Given the description of an element on the screen output the (x, y) to click on. 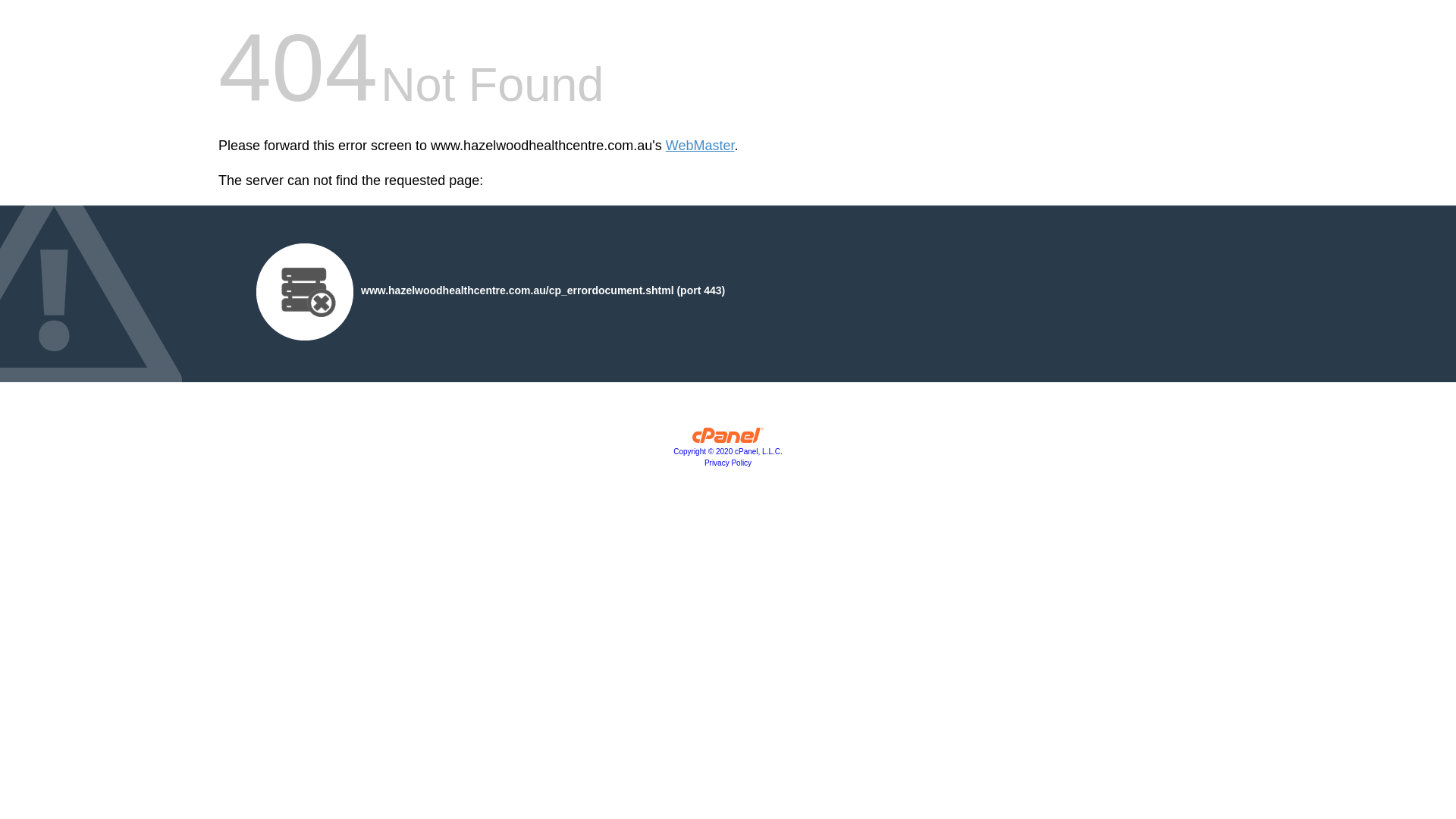
cPanel, Inc. Element type: hover (728, 439)
WebMaster Element type: text (699, 145)
Privacy Policy Element type: text (727, 462)
